Given the description of an element on the screen output the (x, y) to click on. 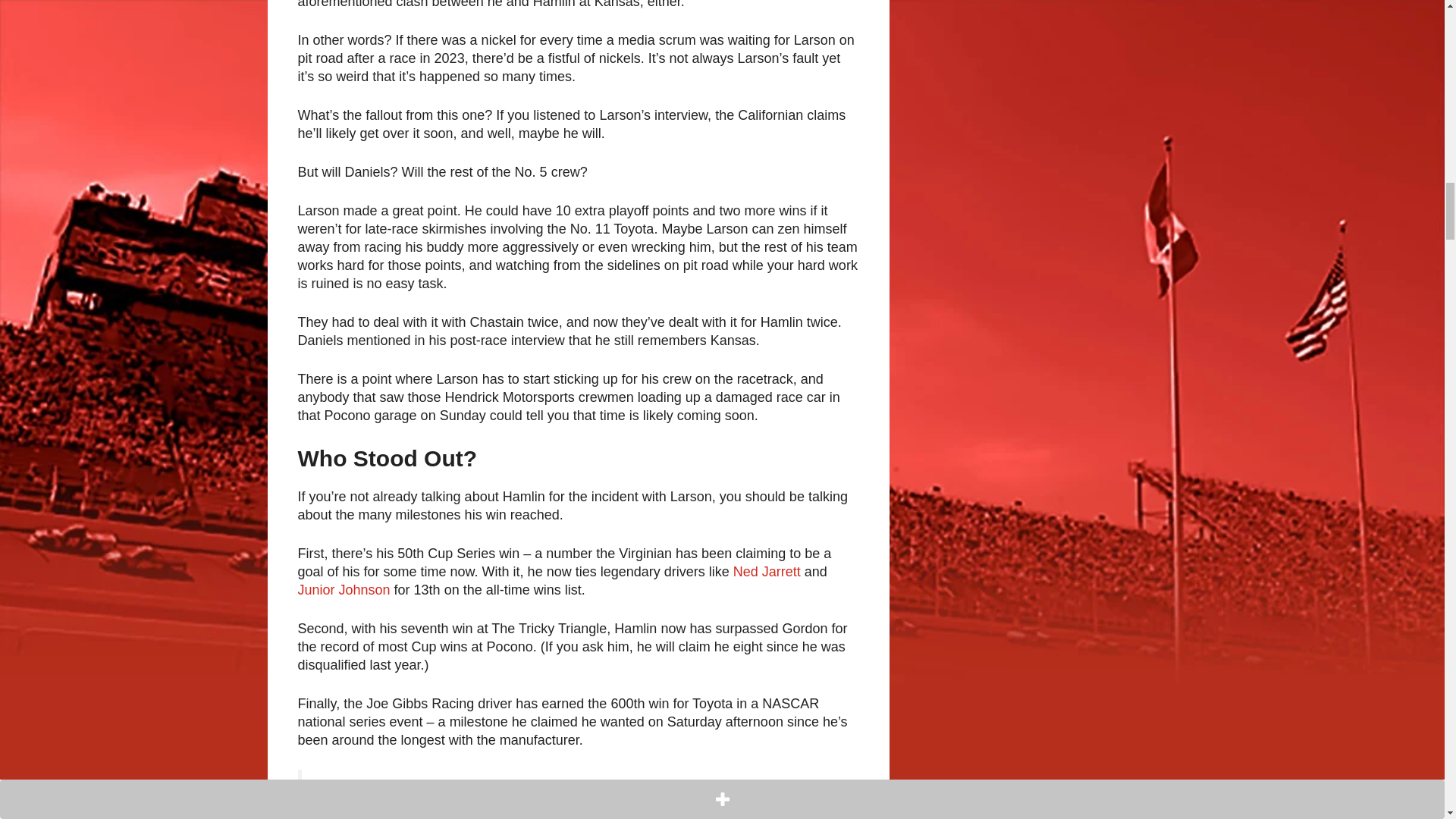
Ned Jarrett (766, 571)
Junior Johnson (343, 589)
